Given the description of an element on the screen output the (x, y) to click on. 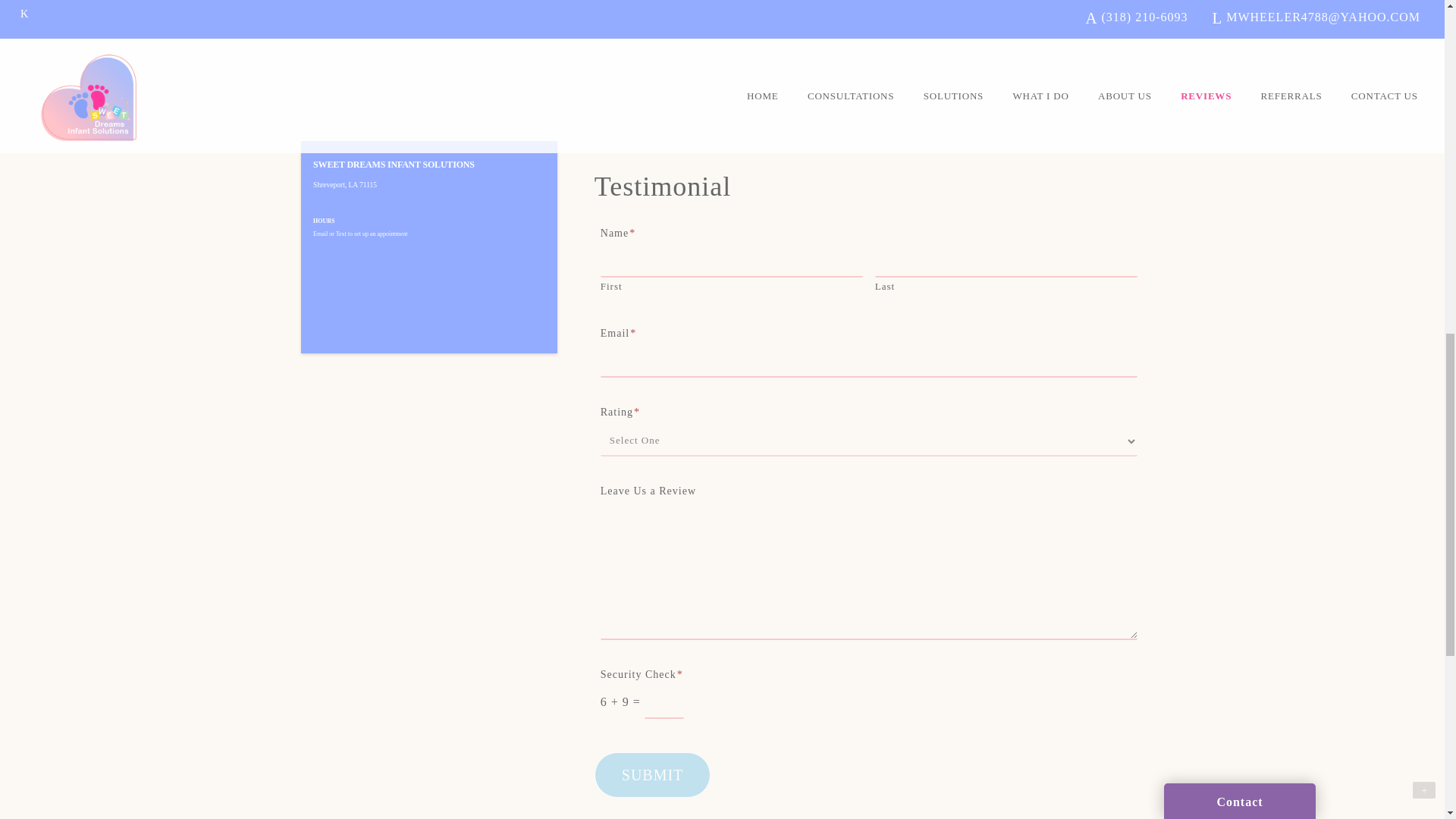
Submit (652, 775)
